Given the description of an element on the screen output the (x, y) to click on. 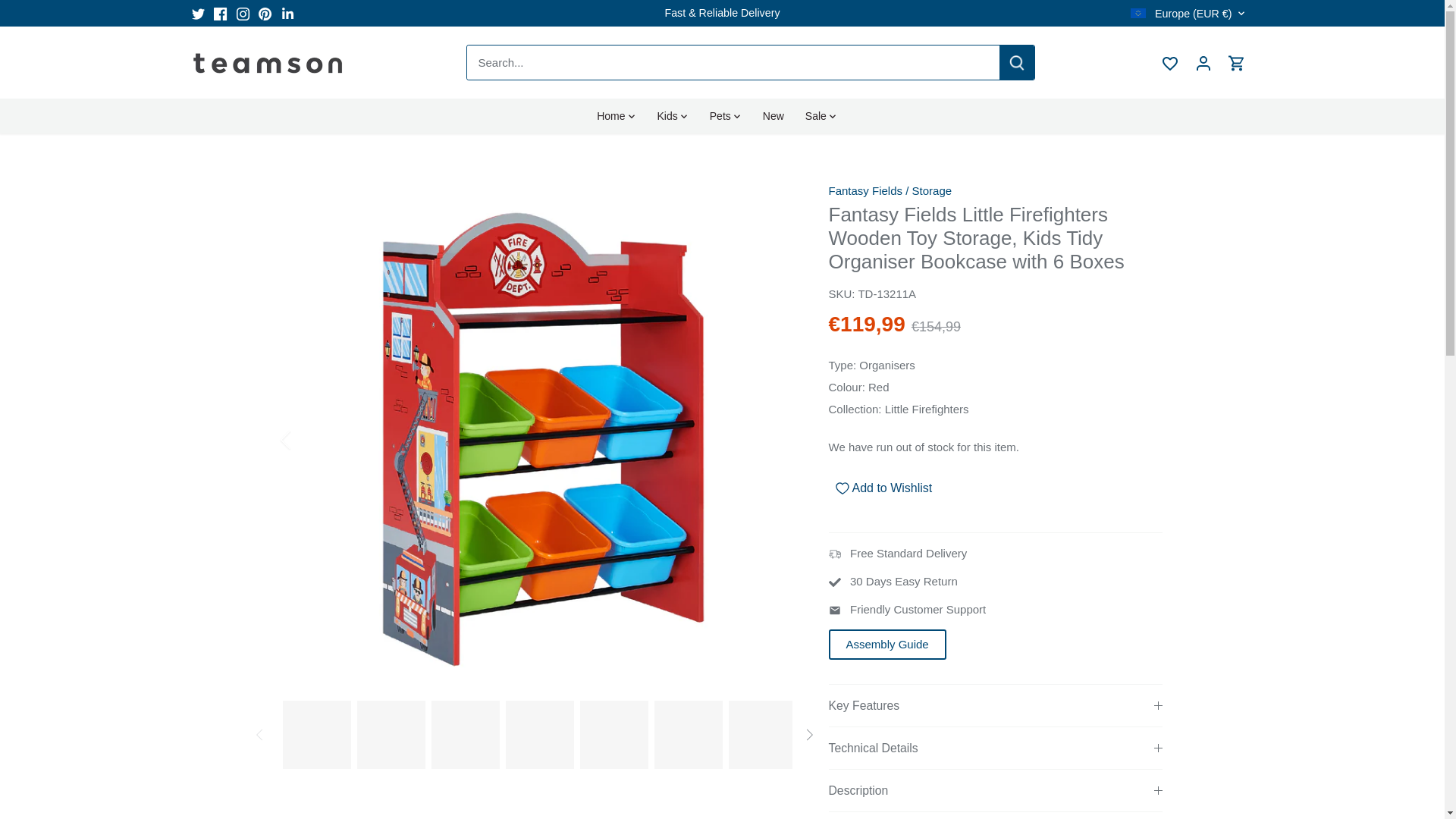
Pinterest (265, 13)
Facebook (220, 13)
Instagram (241, 13)
Home (615, 115)
Twitter (196, 13)
